Given the description of an element on the screen output the (x, y) to click on. 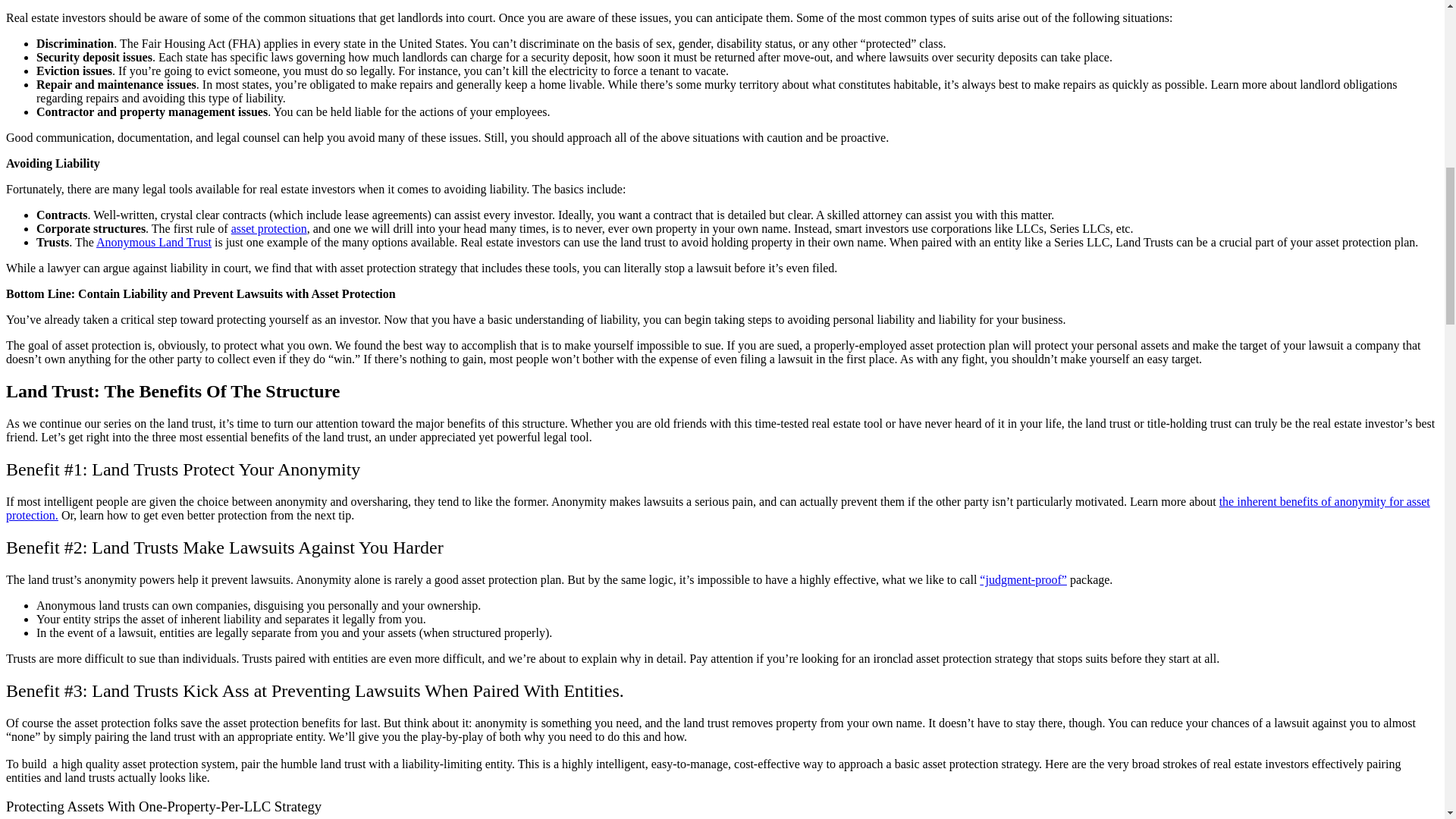
asset protection (269, 228)
Anonymous Land Trust (153, 241)
the inherent benefits of anonymity for asset protection. (717, 508)
